Given the description of an element on the screen output the (x, y) to click on. 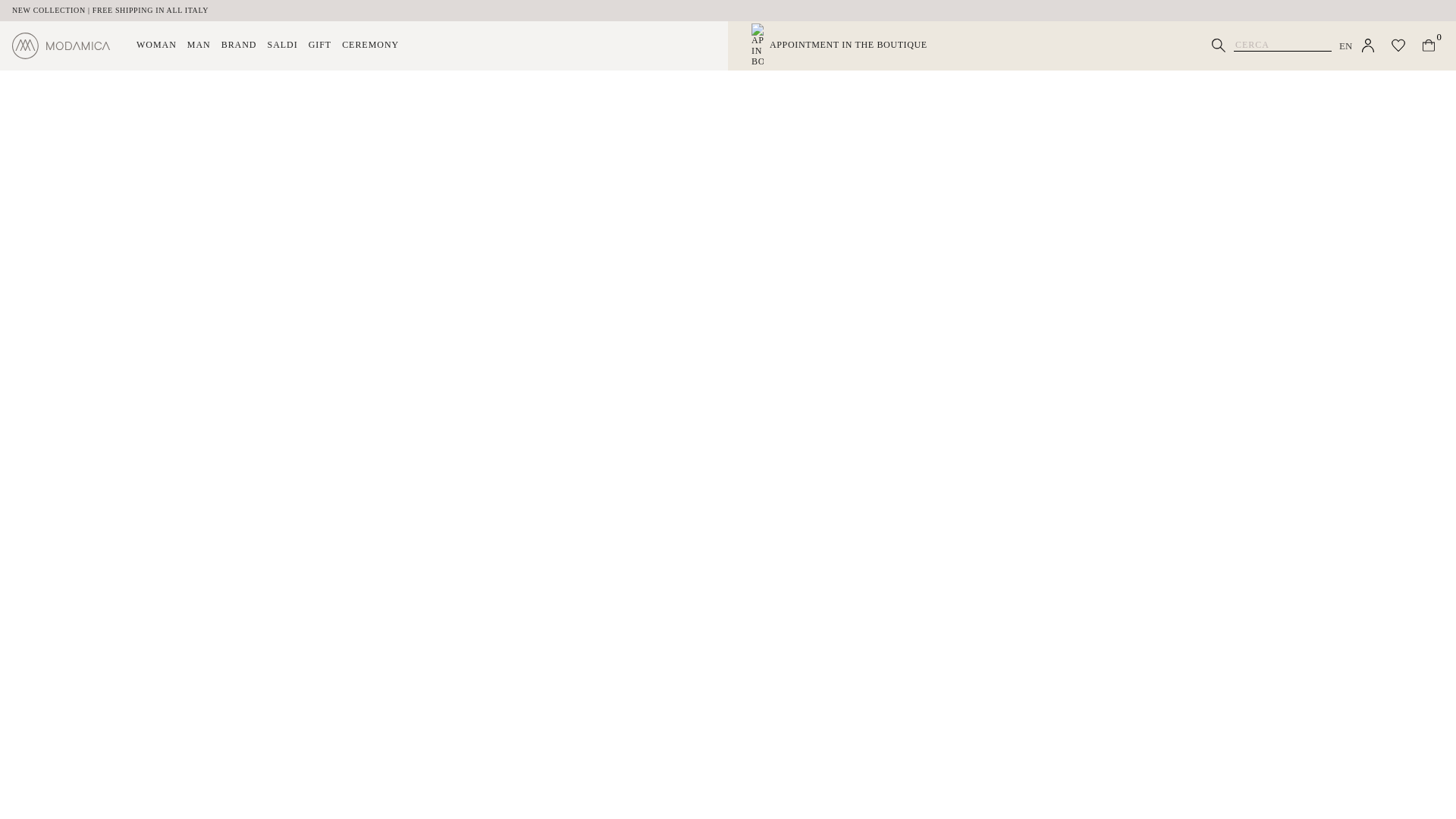
WOMAN (156, 45)
MAN (199, 45)
